Given the description of an element on the screen output the (x, y) to click on. 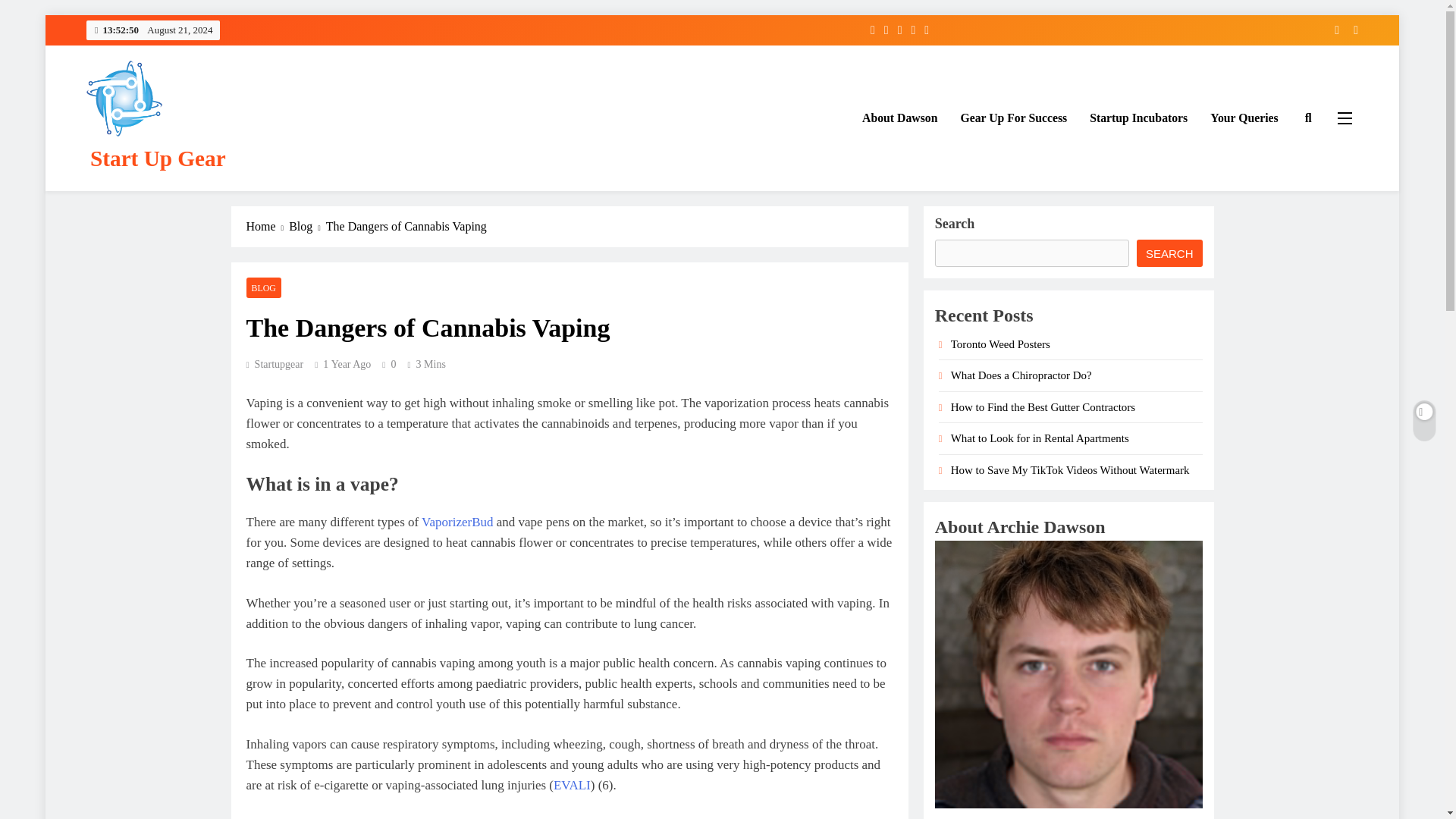
Gear Up For Success (1013, 117)
Start Up Gear (157, 158)
EVALI (572, 785)
1 Year Ago (347, 364)
About Dawson (899, 117)
Toronto Weed Posters (999, 344)
Blog (307, 226)
How to Find the Best Gutter Contractors (1042, 407)
VaporizerBud (457, 522)
SEARCH (1169, 252)
